Given the description of an element on the screen output the (x, y) to click on. 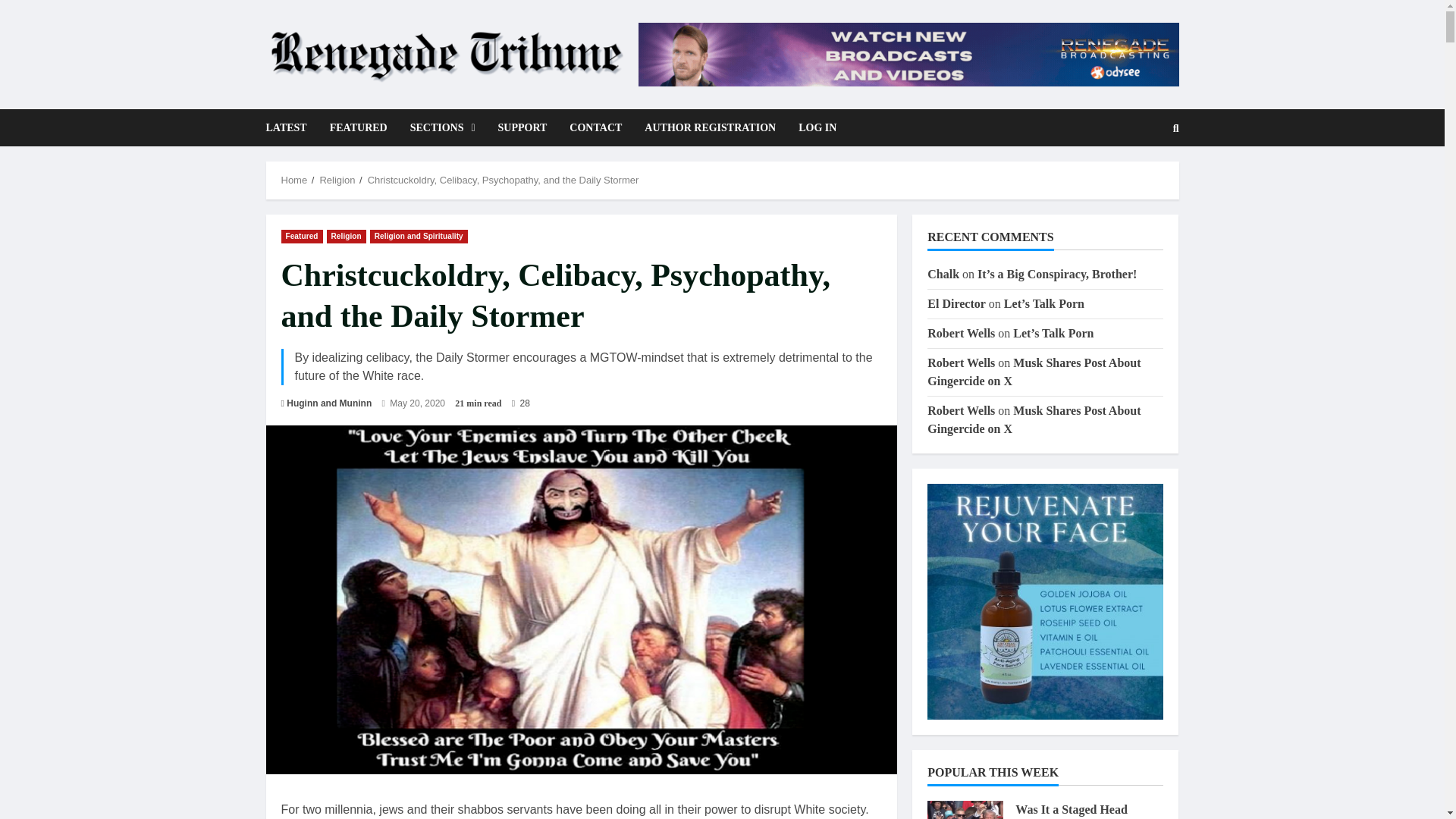
Religion (336, 179)
SUPPORT (522, 127)
Religion (346, 236)
LOG IN (811, 127)
Huginn and Muninn (328, 403)
Religion and Spirituality (418, 236)
Featured (301, 236)
AUTHOR REGISTRATION (710, 127)
CONTACT (595, 127)
LATEST (290, 127)
Home (294, 179)
28 (520, 403)
Search (1139, 179)
FEATURED (358, 127)
